Given the description of an element on the screen output the (x, y) to click on. 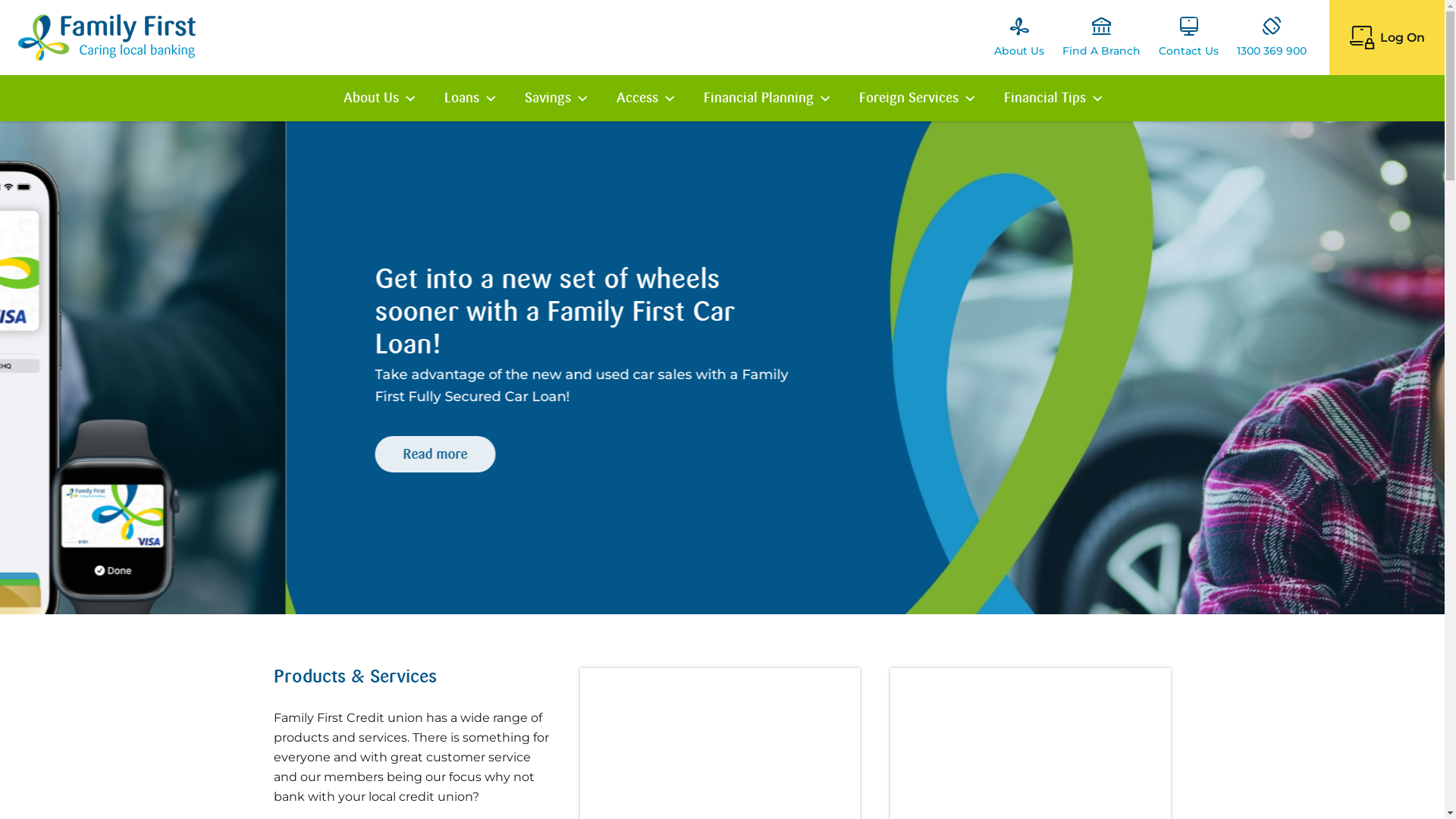
Financial Tips Element type: text (1052, 98)
Savings Element type: text (555, 98)
About Us Element type: text (1019, 37)
Loans Element type: text (469, 98)
Financial Planning Element type: text (766, 98)
Log On Element type: text (1386, 37)
Find A Branch Element type: text (1101, 37)
About Us Element type: text (378, 98)
Foreign Services Element type: text (916, 98)
Access Element type: text (644, 98)
1300 369 900 Element type: text (1271, 37)
Contact Us Element type: text (1188, 37)
